Given the description of an element on the screen output the (x, y) to click on. 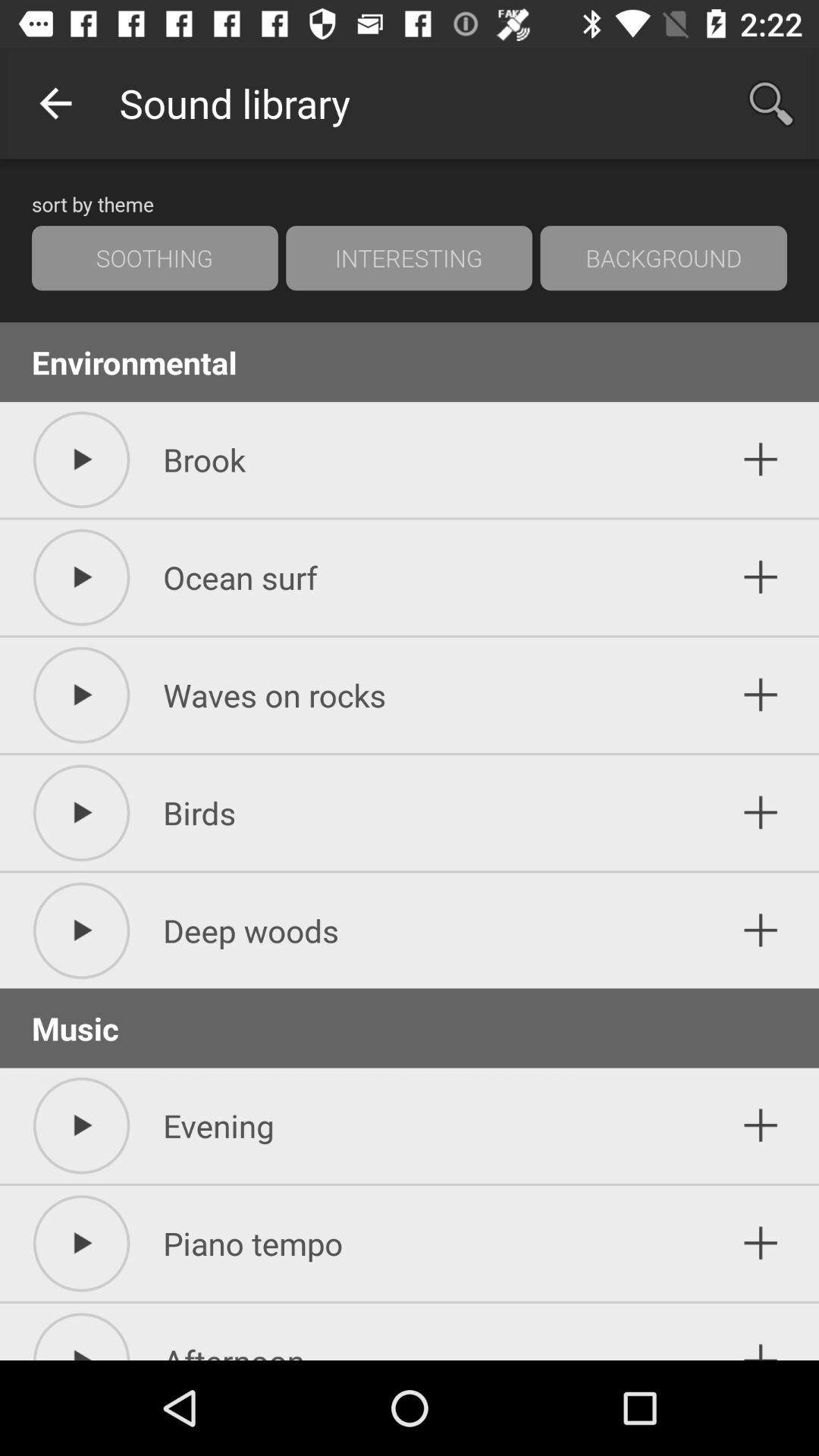
open the item to the left of the interesting (154, 257)
